Given the description of an element on the screen output the (x, y) to click on. 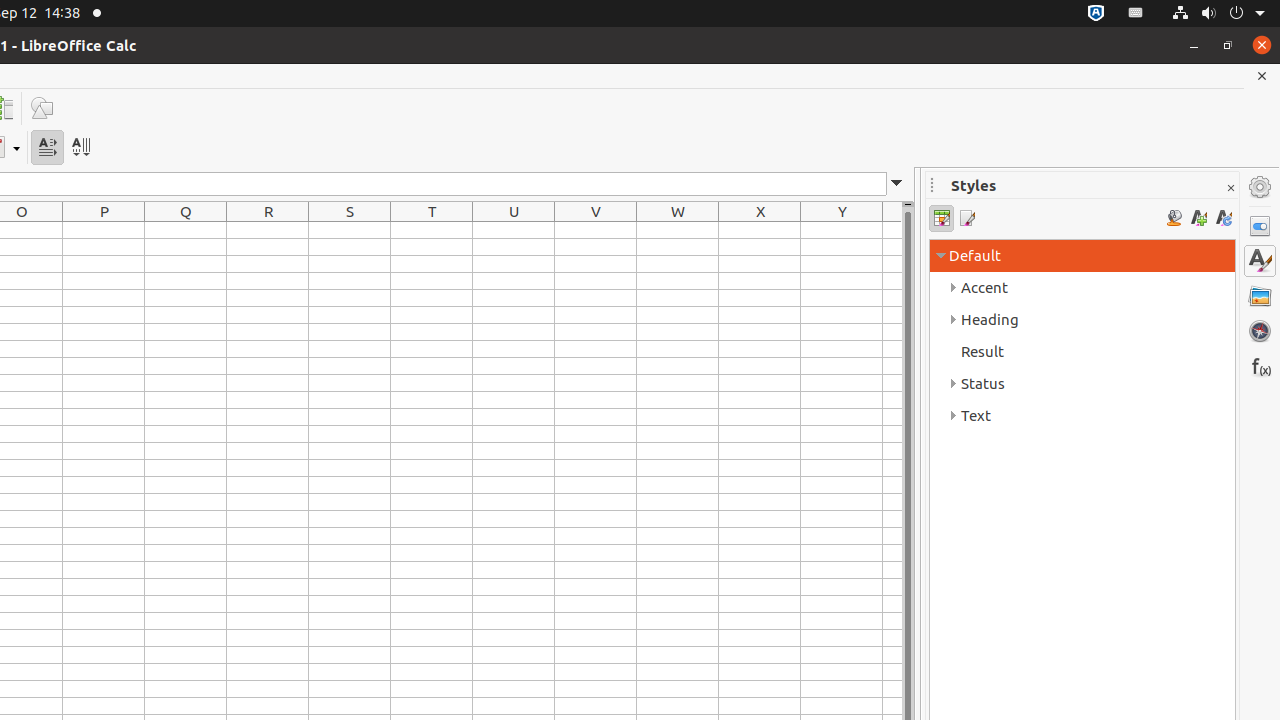
Page Styles Element type: push-button (966, 218)
Fill Format Mode Element type: push-button (1173, 218)
Close Sidebar Deck Element type: push-button (1230, 188)
X1 Element type: table-cell (760, 230)
Functions Element type: radio-button (1260, 366)
